Given the description of an element on the screen output the (x, y) to click on. 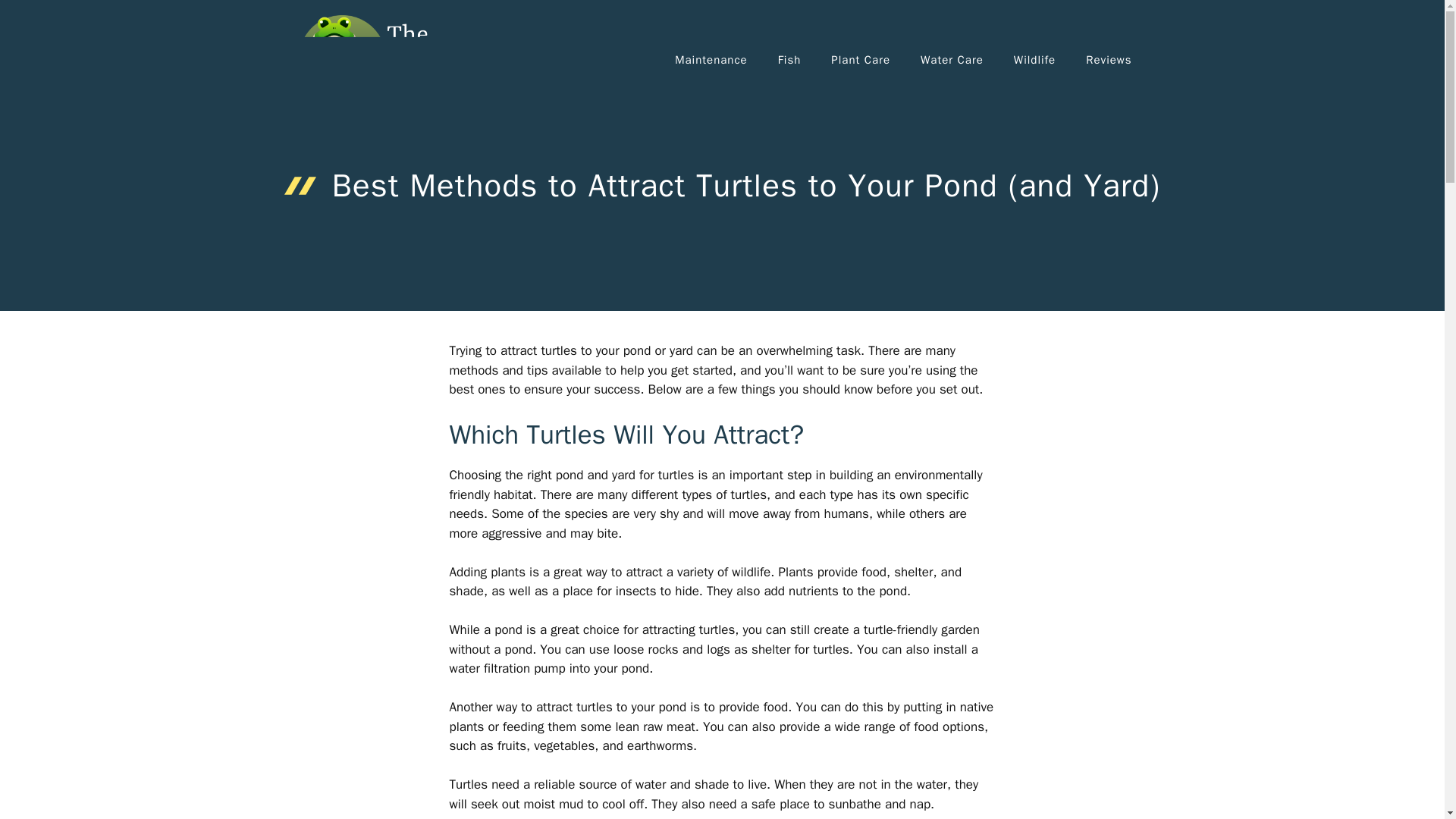
Fish (789, 59)
Water Care (951, 59)
Reviews (1108, 59)
Maintenance (710, 59)
Plant Care (860, 59)
Wildlife (1034, 59)
